Given the description of an element on the screen output the (x, y) to click on. 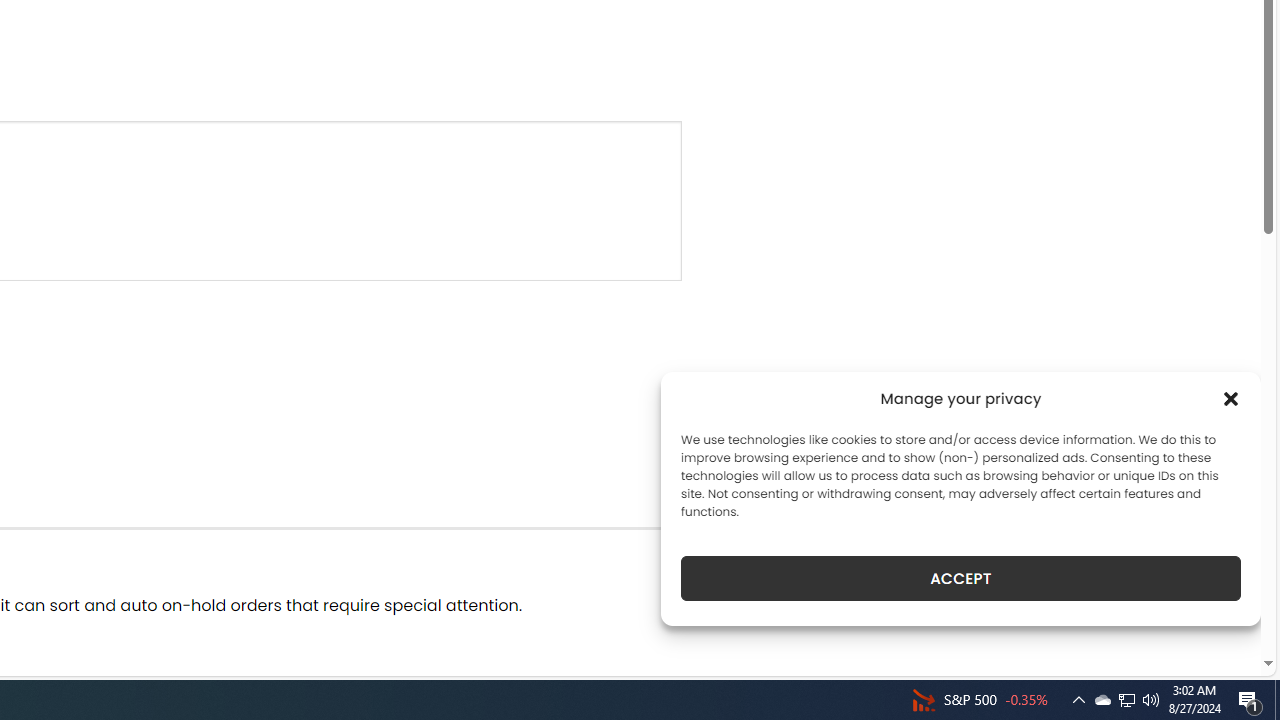
ACCEPT (960, 578)
Class: cmplz-close (1231, 398)
